Given the description of an element on the screen output the (x, y) to click on. 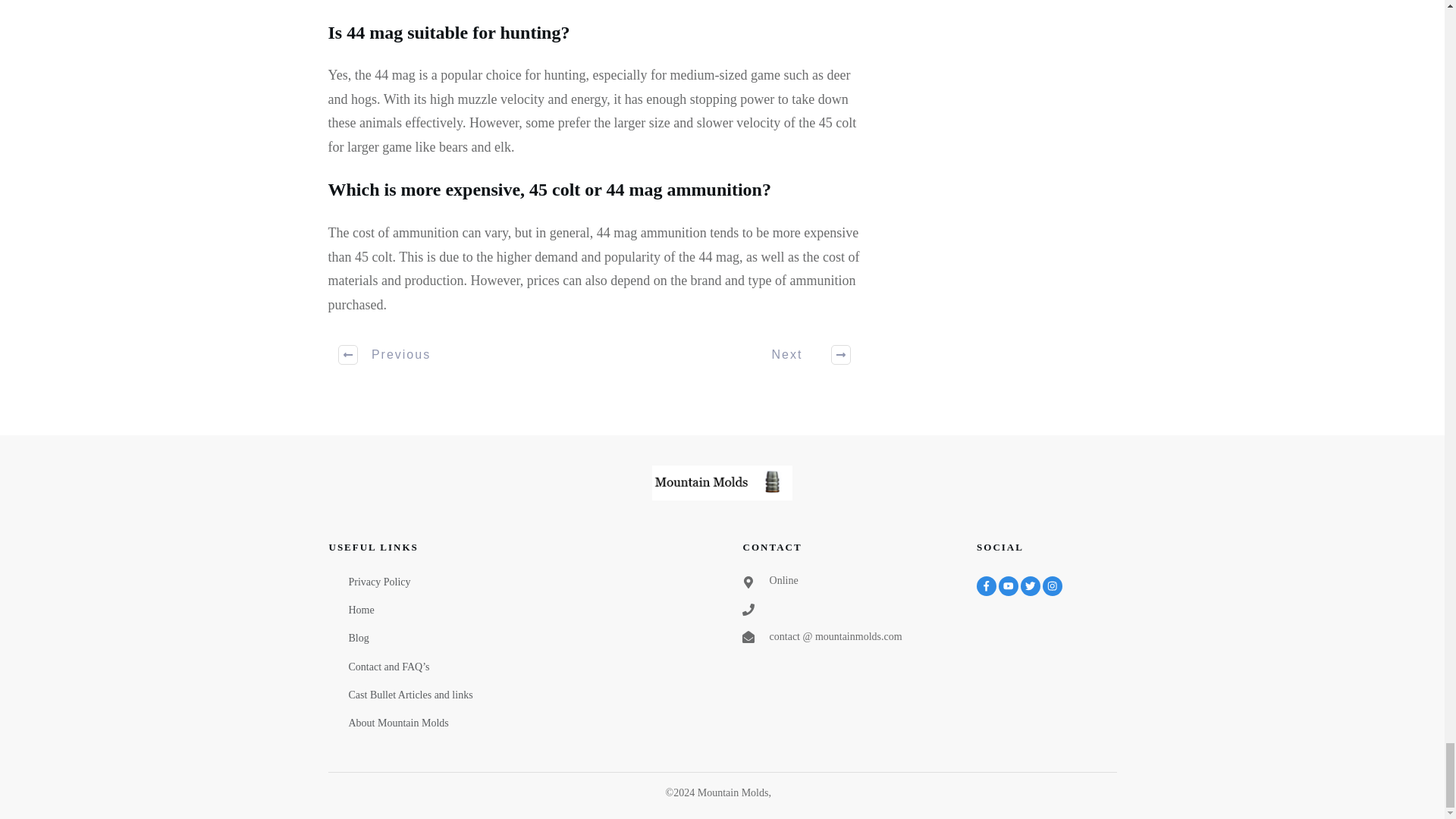
Previous (385, 354)
Next (802, 354)
